Given the description of an element on the screen output the (x, y) to click on. 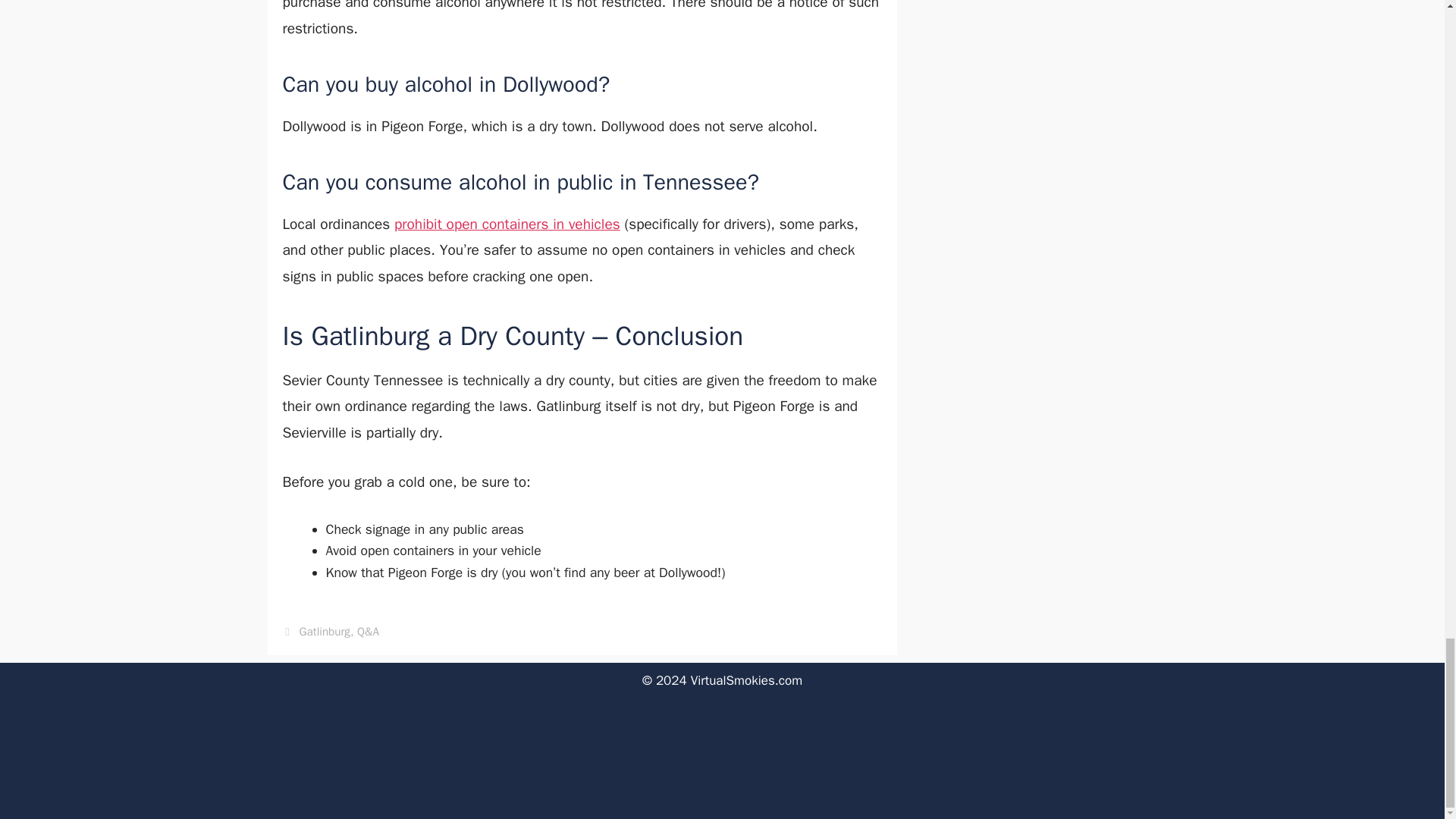
Gatlinburg (324, 631)
prohibit open containers in vehicles (507, 224)
DMCA.com Protection Status (721, 801)
